Given the description of an element on the screen output the (x, y) to click on. 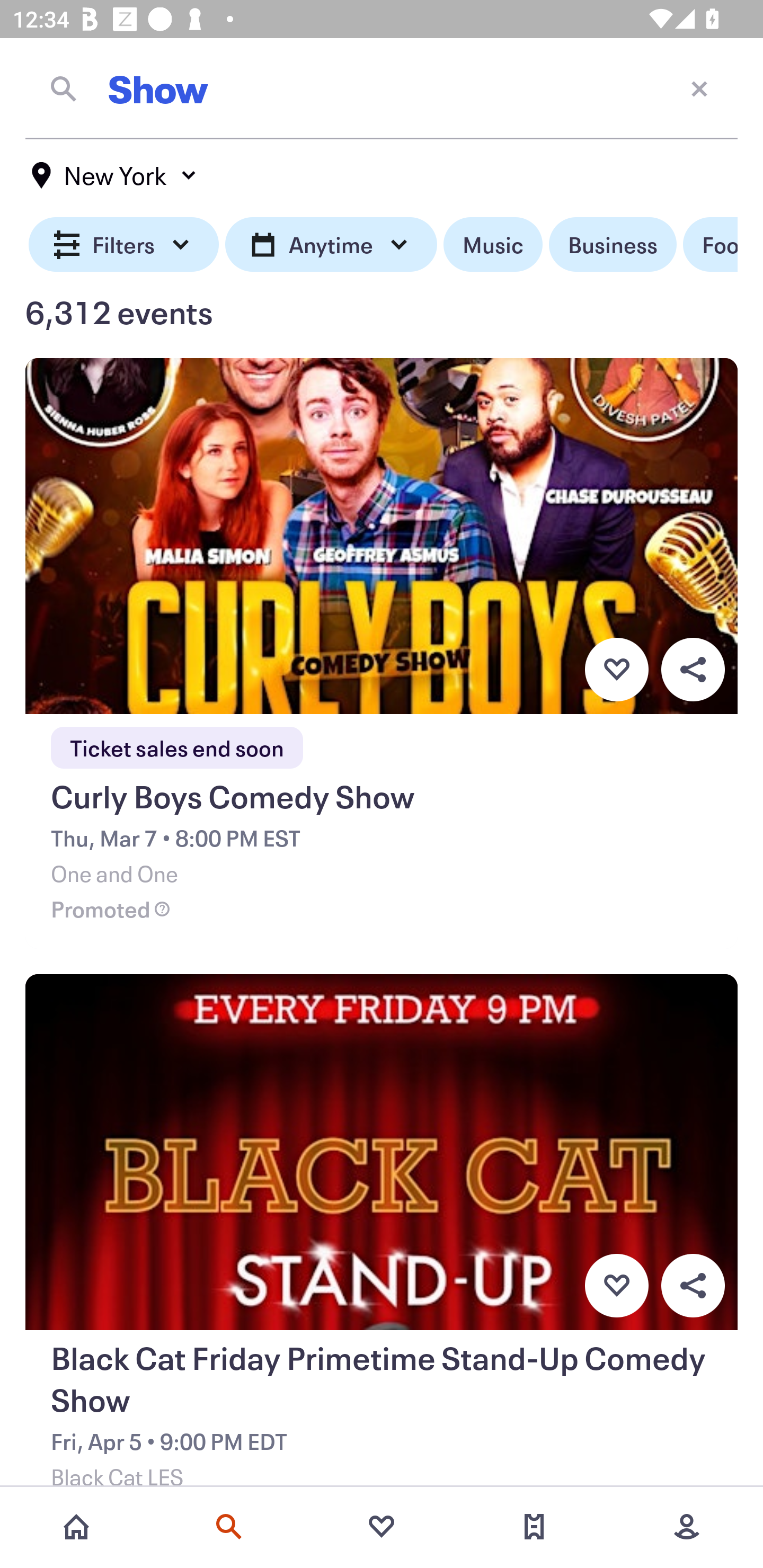
Show Close current screen (381, 88)
Close current screen (699, 88)
New York (114, 175)
Filters (123, 244)
Anytime (331, 244)
Music (492, 244)
Business (612, 244)
Favorite button (616, 669)
Overflow menu button (692, 669)
Favorite button (616, 1285)
Overflow menu button (692, 1285)
Promoted event help (161, 1482)
Home (76, 1526)
Search events (228, 1526)
Favorites (381, 1526)
Tickets (533, 1526)
More (686, 1526)
